Given the description of an element on the screen output the (x, y) to click on. 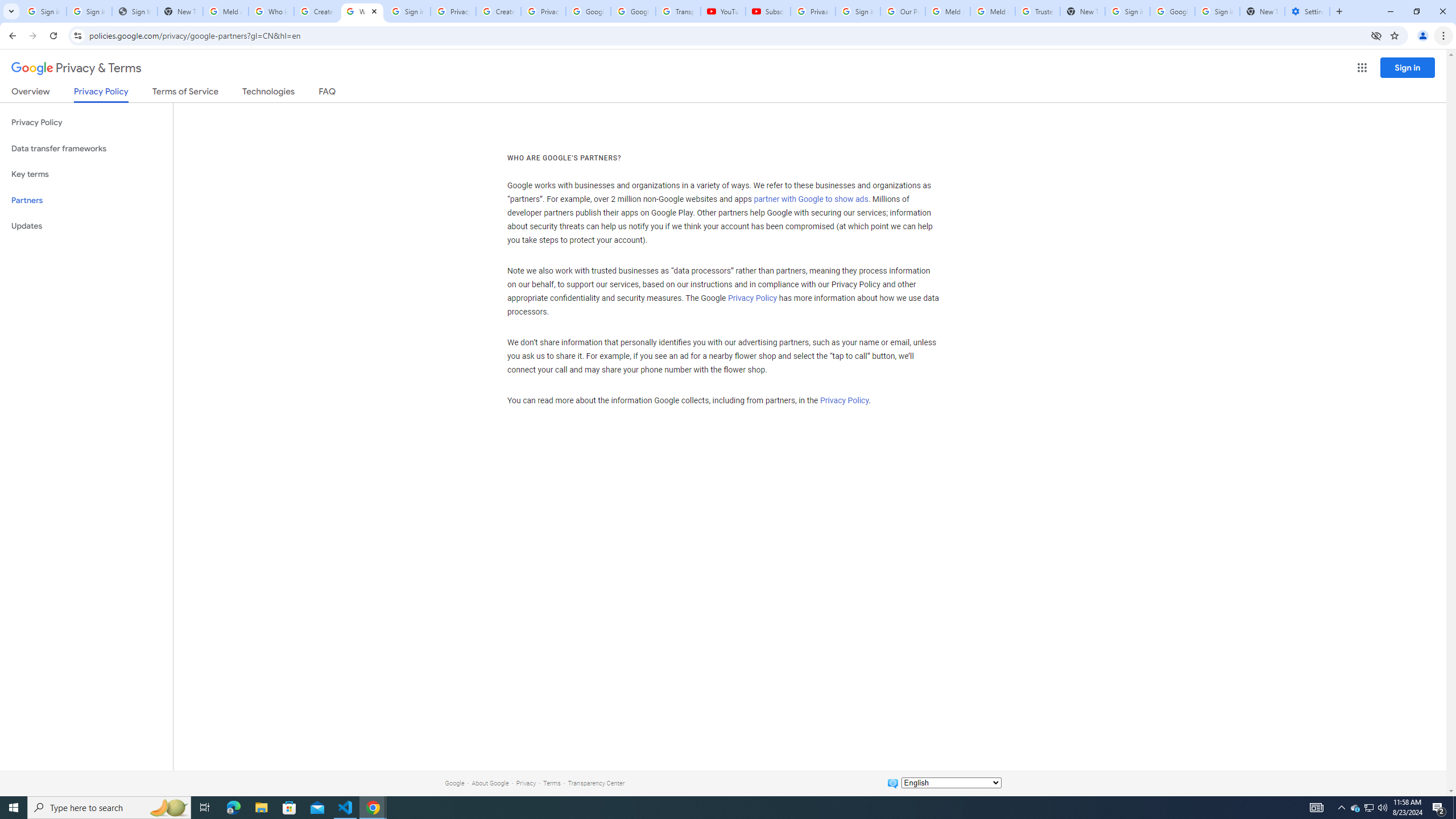
Google Cybersecurity Innovations - Google Safety Center (1171, 11)
Create your Google Account (497, 11)
Sign in - Google Accounts (1216, 11)
Change language: (951, 782)
